Given the description of an element on the screen output the (x, y) to click on. 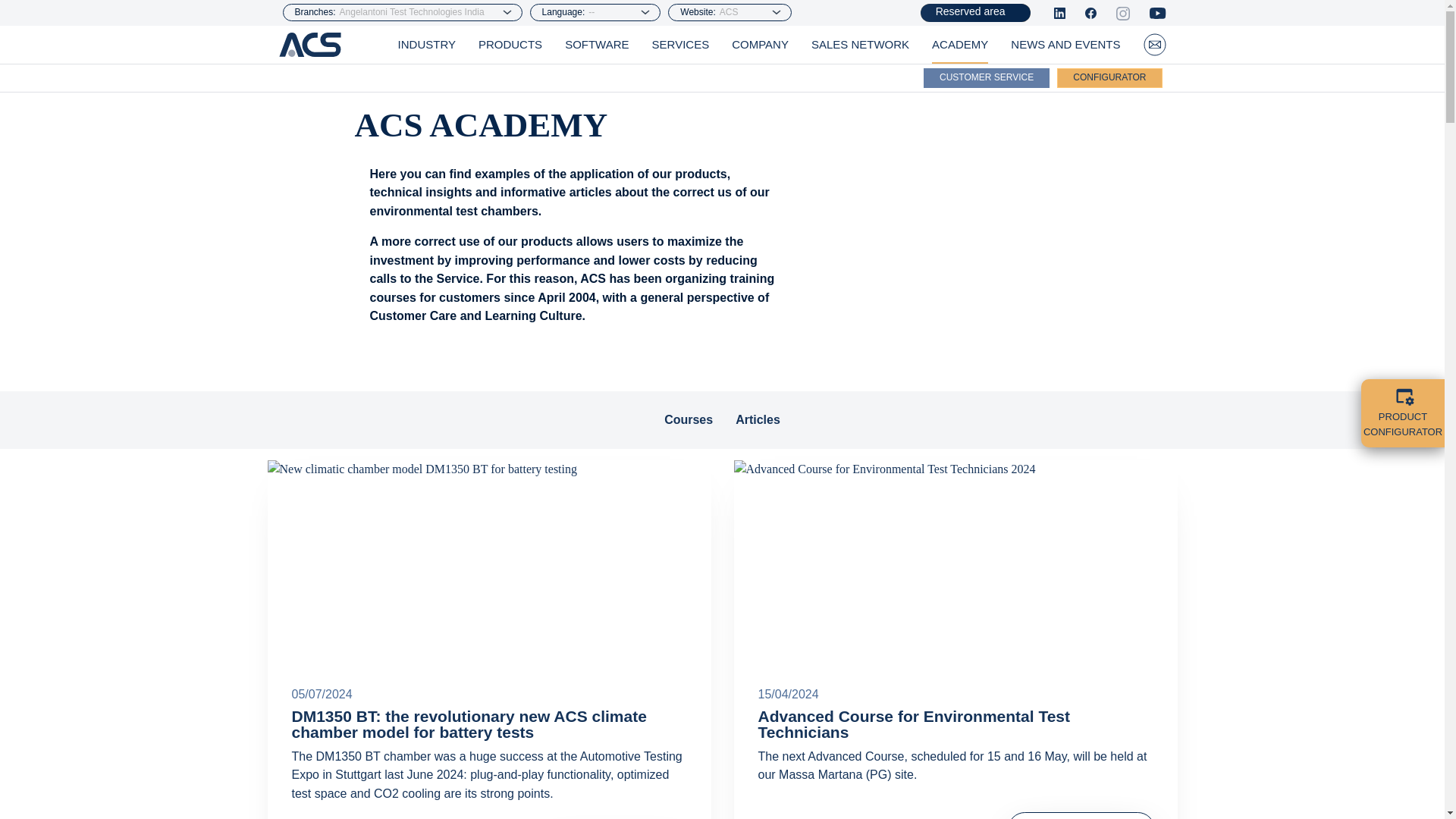
Courses (688, 419)
SERVICES (681, 45)
INDUSTRY (426, 45)
ACS (751, 11)
SALES NETWORK (859, 45)
Reserved area (975, 13)
Articles (757, 419)
CUSTOMER SERVICE (986, 76)
COMPANY (760, 45)
READ THE ARTICLE (1080, 815)
